Given the description of an element on the screen output the (x, y) to click on. 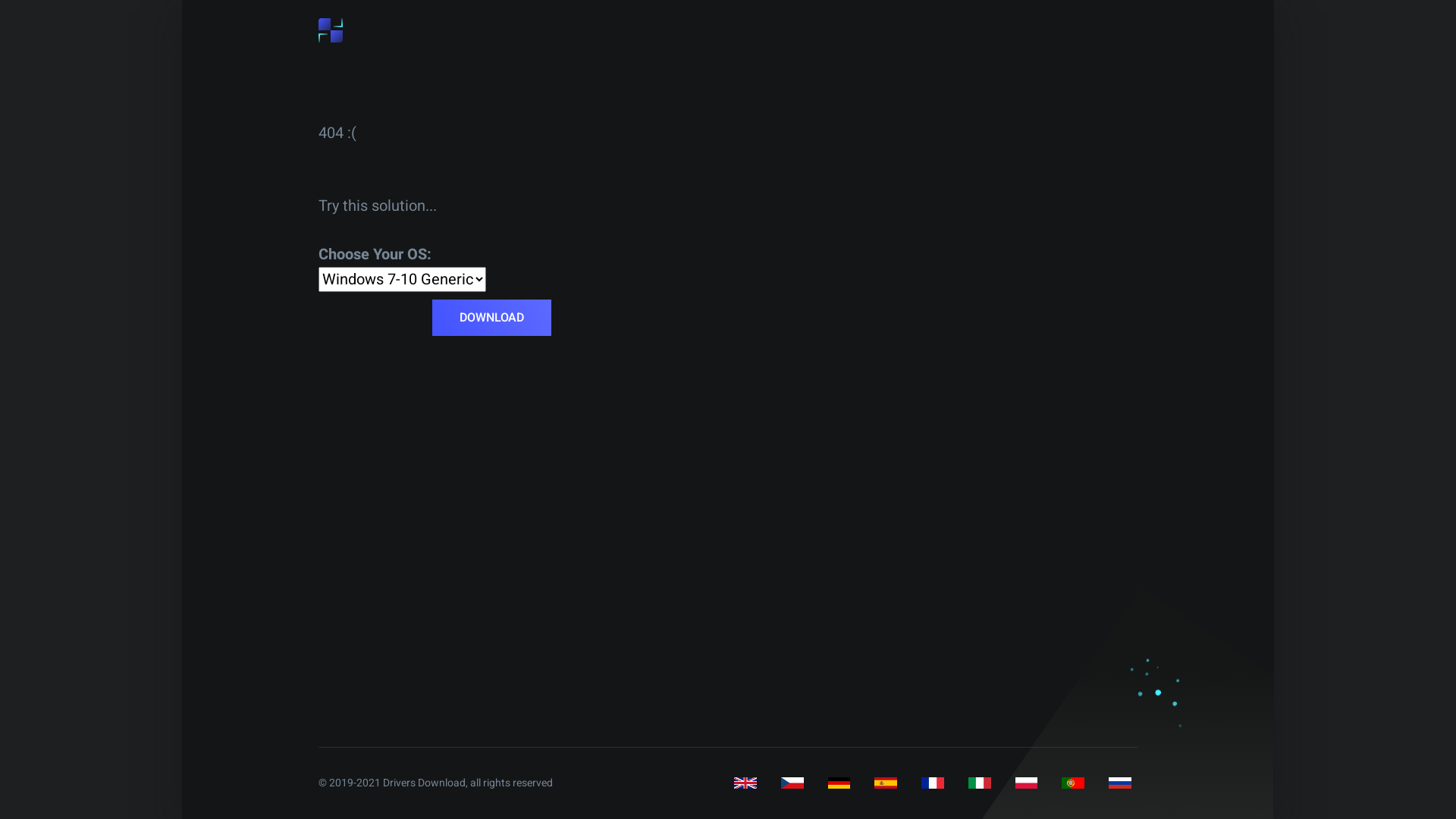
DOWNLOAD Element type: text (491, 317)
